Given the description of an element on the screen output the (x, y) to click on. 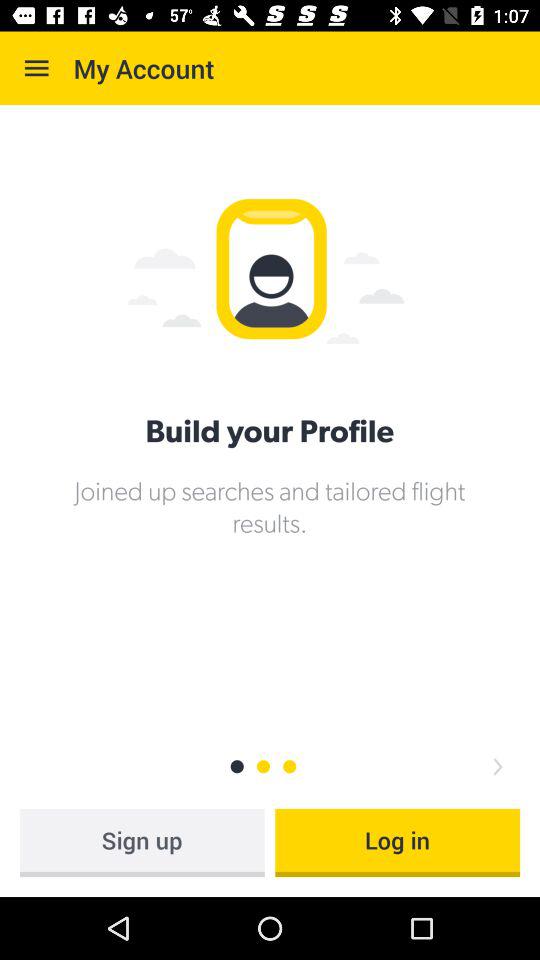
choose the icon above the log in item (497, 766)
